Given the description of an element on the screen output the (x, y) to click on. 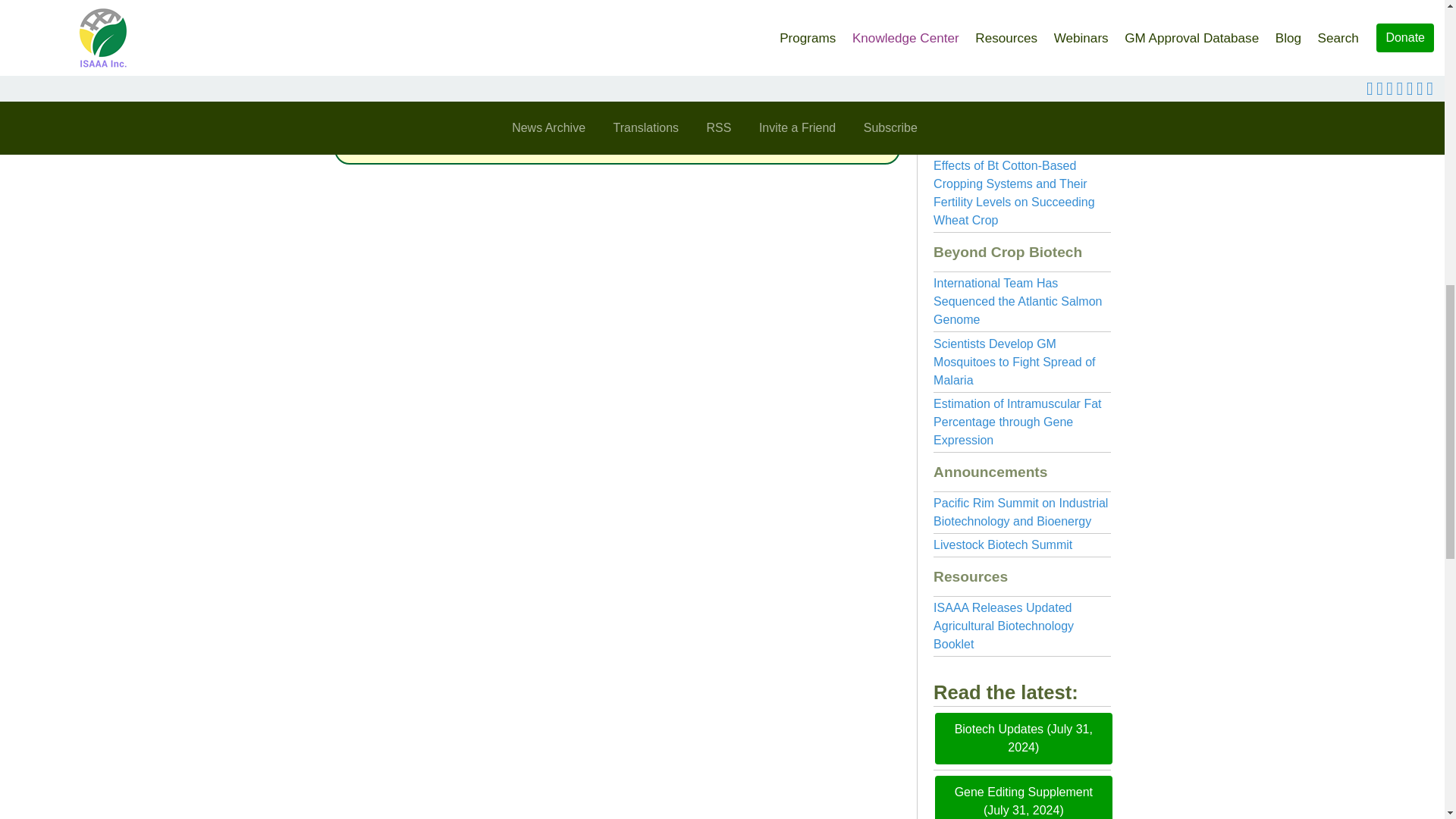
DONATE (617, 118)
